Given the description of an element on the screen output the (x, y) to click on. 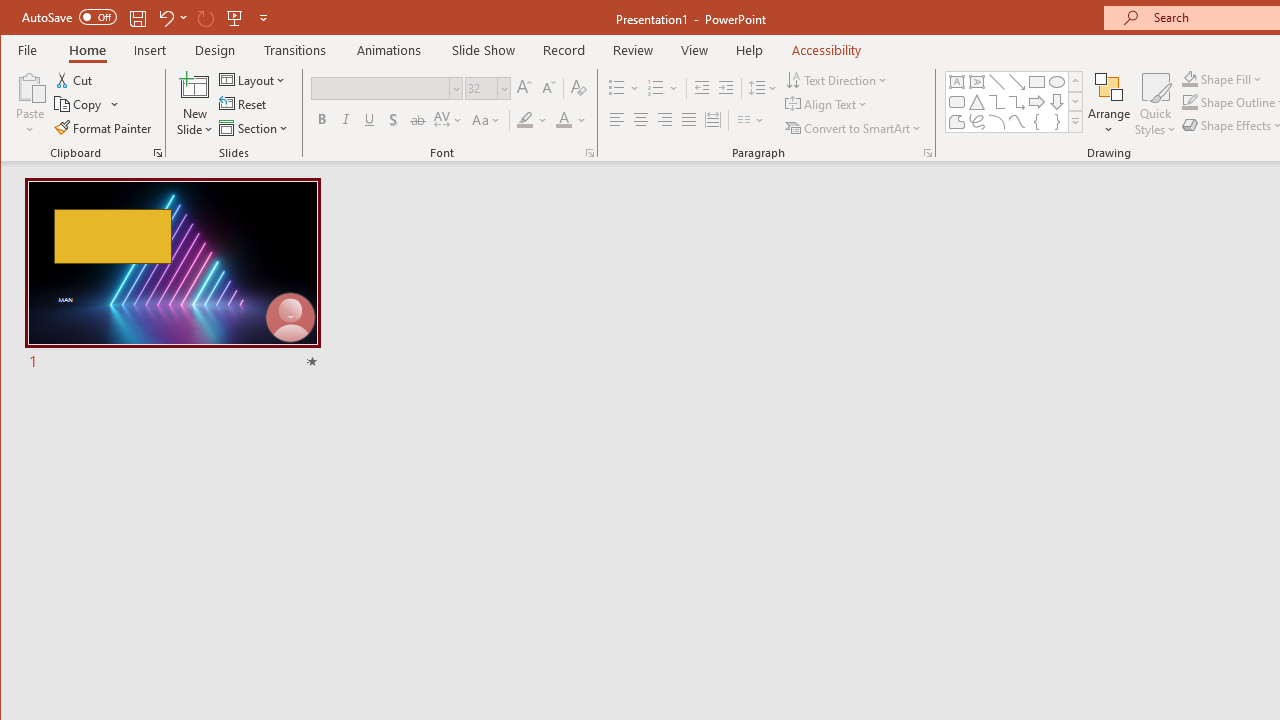
Font Color Red (563, 119)
Freeform: Scribble (976, 121)
Text Direction (837, 80)
Arrange (1108, 104)
Oval (1057, 82)
Curve (1016, 121)
Row Down (1074, 101)
Office Clipboard... (157, 152)
Left Brace (1036, 121)
Shape Outline Blue, Accent 1 (1189, 101)
Freeform: Shape (956, 121)
Paragraph... (927, 152)
